Given the description of an element on the screen output the (x, y) to click on. 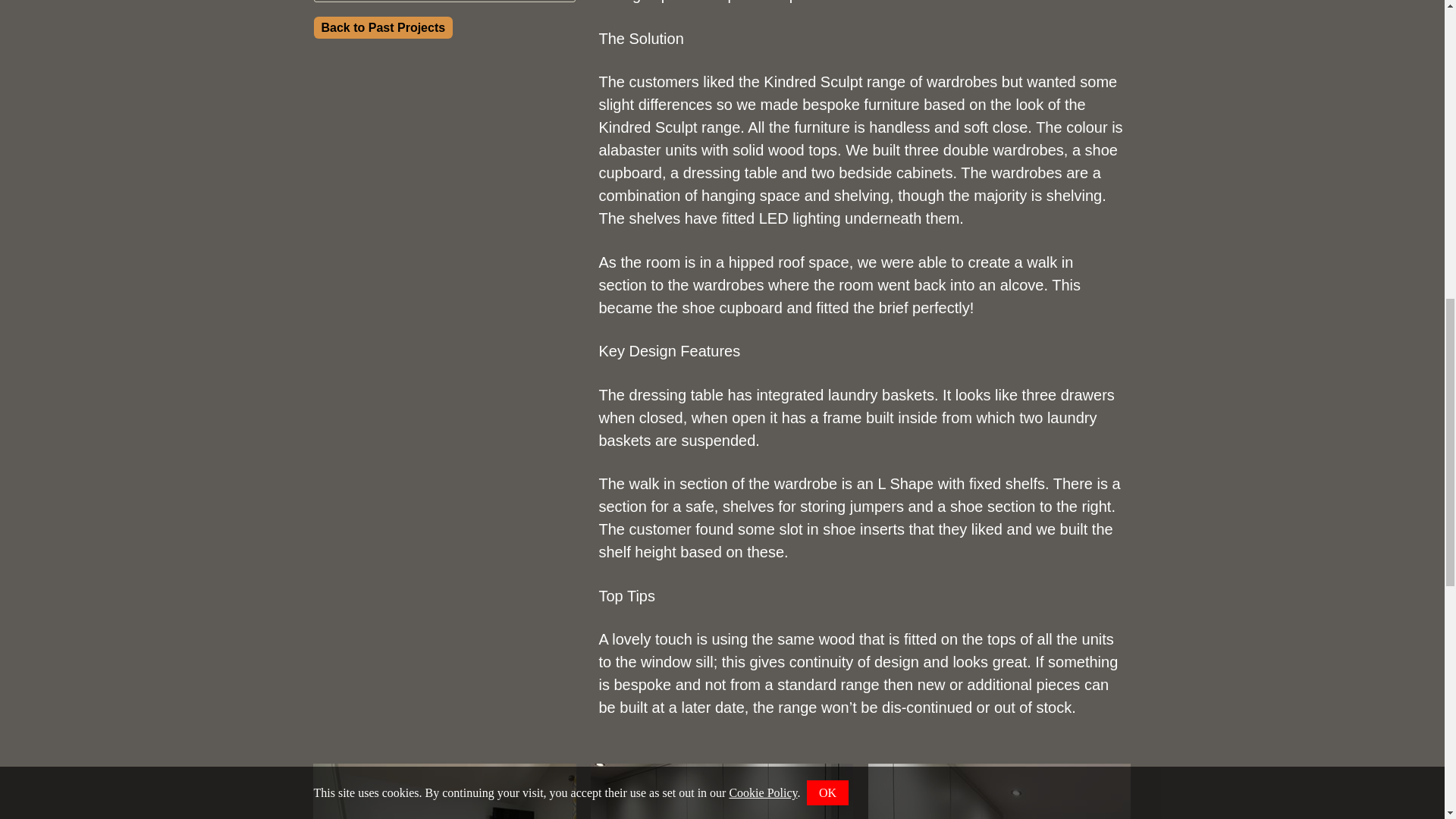
Fine Finish Bespoke Fitted Bedroom 2 (444, 791)
Fine Finish Bespoke Fitted Bedroom 1 (999, 791)
Back to Past Projects (383, 27)
Fine Finish Bespoke Fitted Bedroom 3 (722, 791)
